Given the description of an element on the screen output the (x, y) to click on. 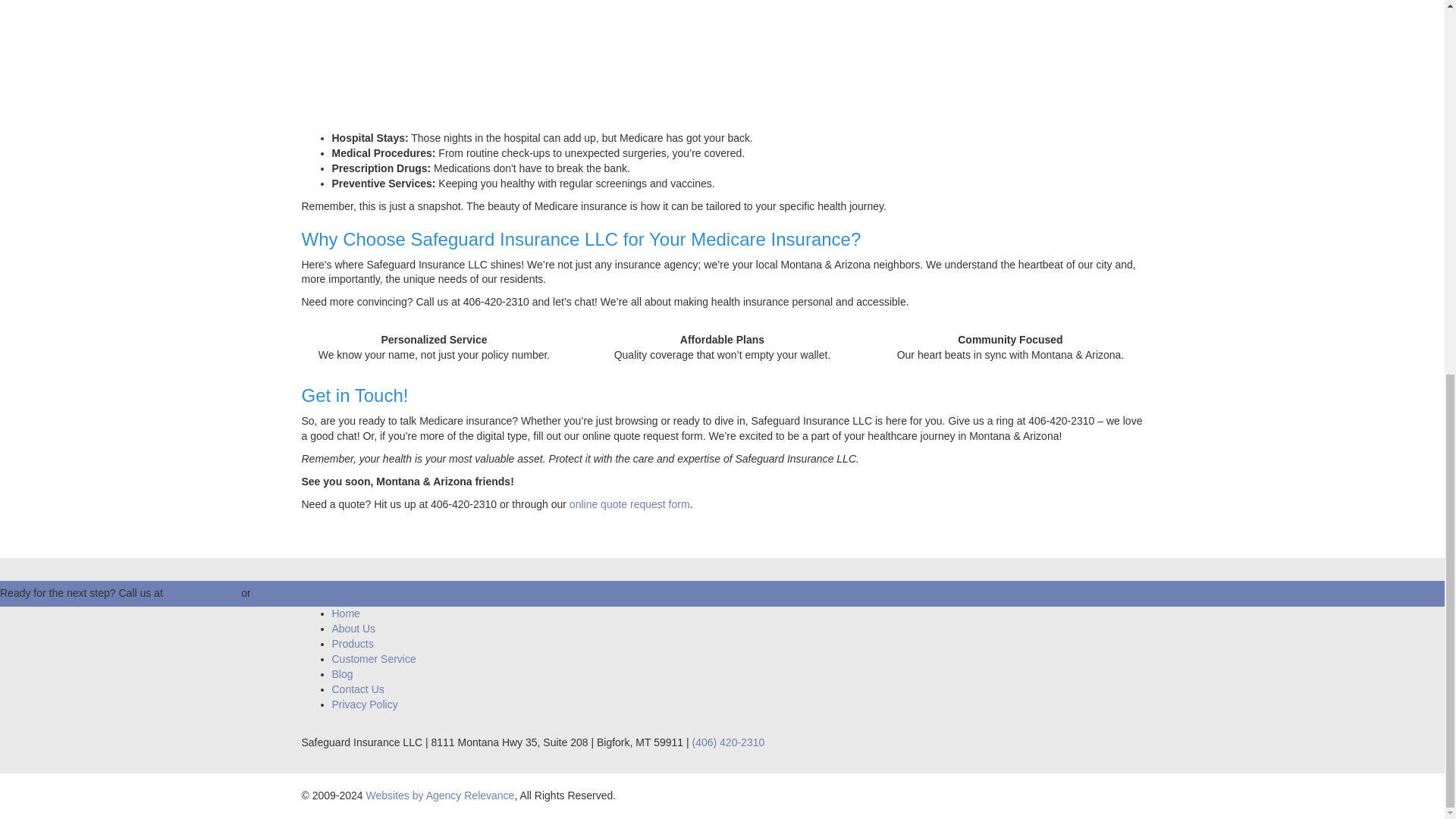
Contact Us (357, 689)
Customer Service (373, 658)
Privacy Policy (364, 704)
Request a Quote (303, 593)
Websites by Agency Relevance (440, 795)
online quote request form (629, 503)
Products (352, 644)
About Us (353, 628)
Blog (342, 674)
Home (345, 613)
